Given the description of an element on the screen output the (x, y) to click on. 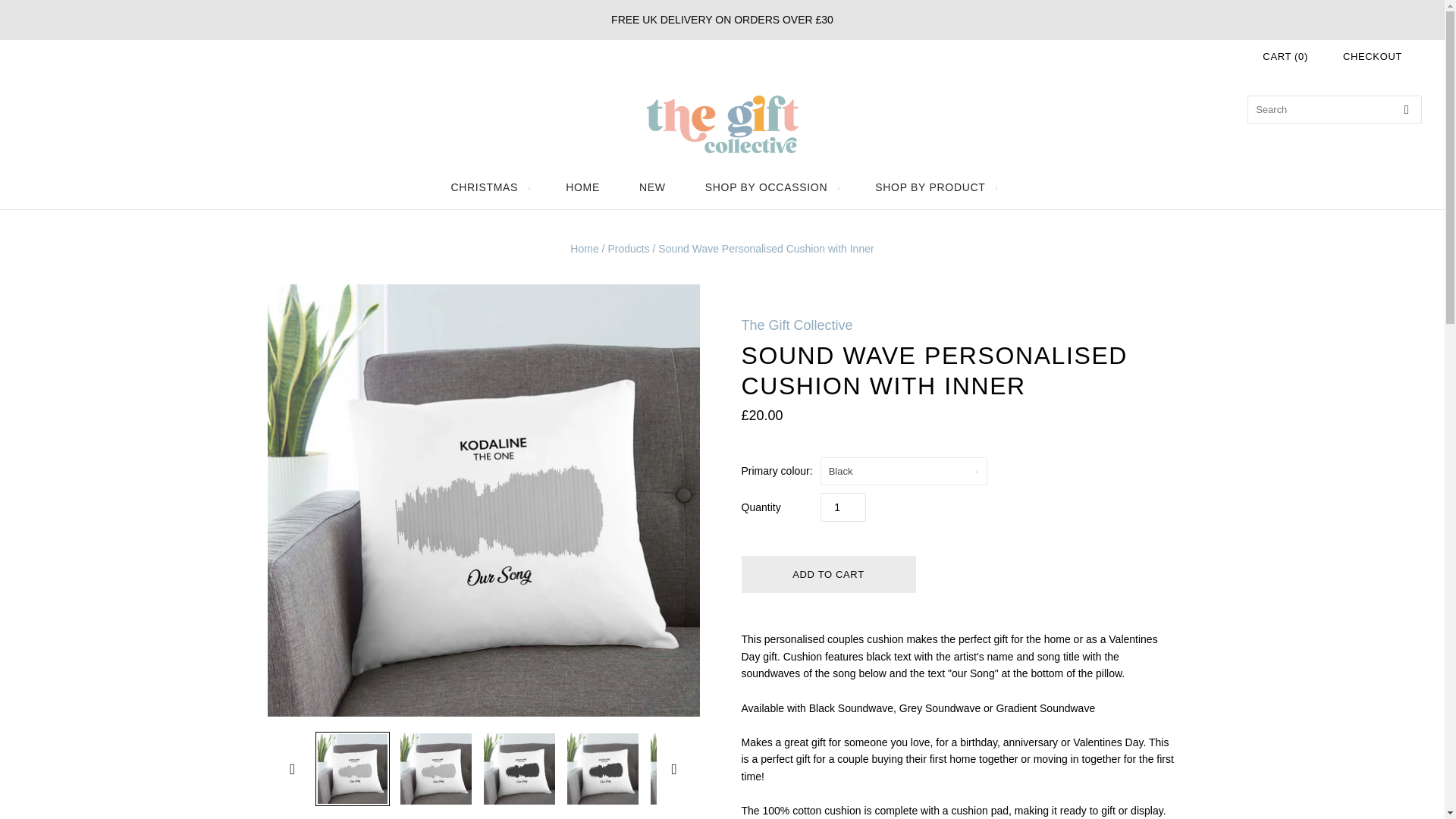
1 (843, 507)
CHECKOUT (1372, 56)
HOME (583, 187)
NEW (652, 187)
Add to cart (828, 574)
